Given the description of an element on the screen output the (x, y) to click on. 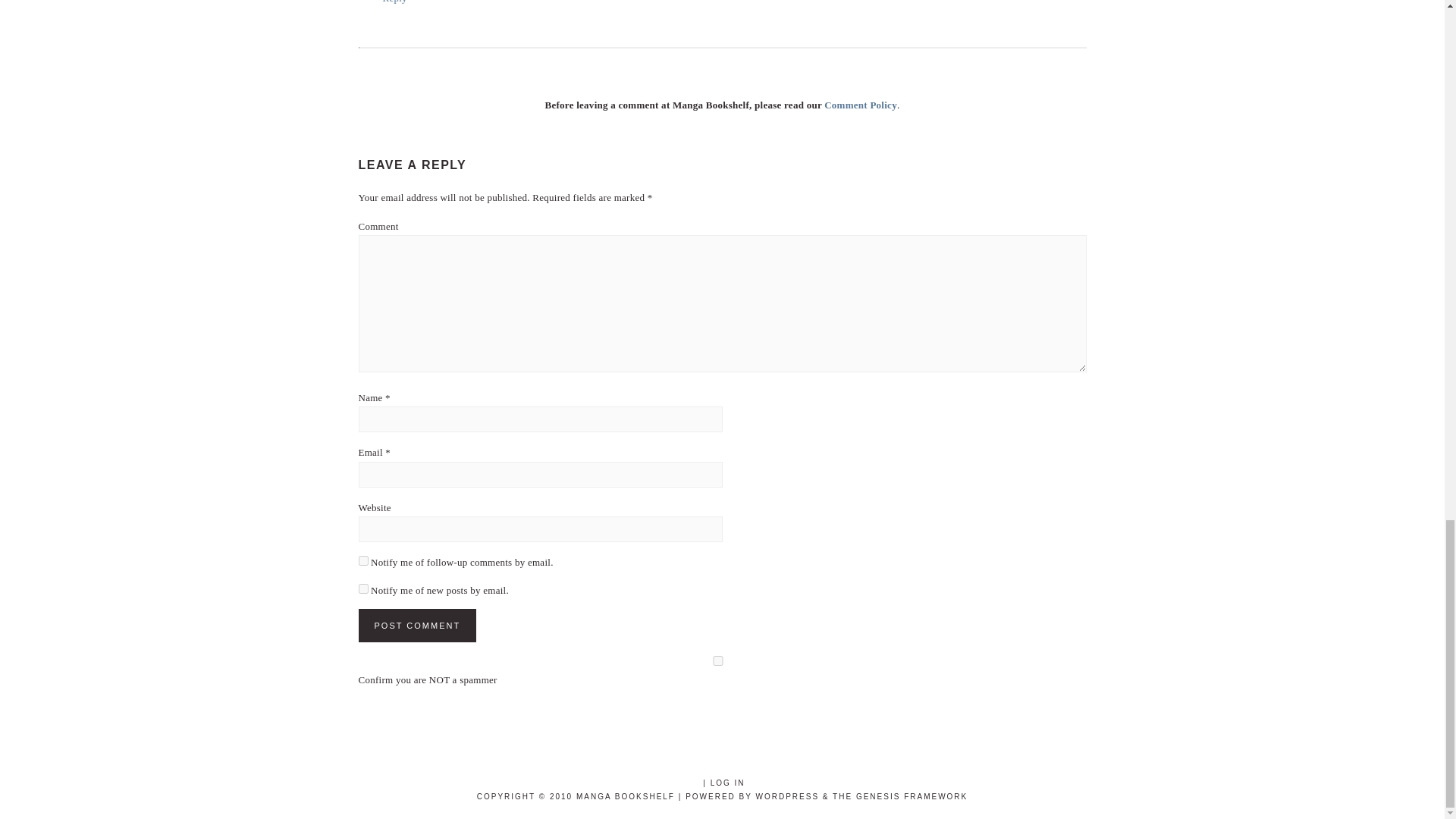
subscribe (363, 560)
on (717, 660)
subscribe (363, 588)
Post Comment (417, 625)
